Given the description of an element on the screen output the (x, y) to click on. 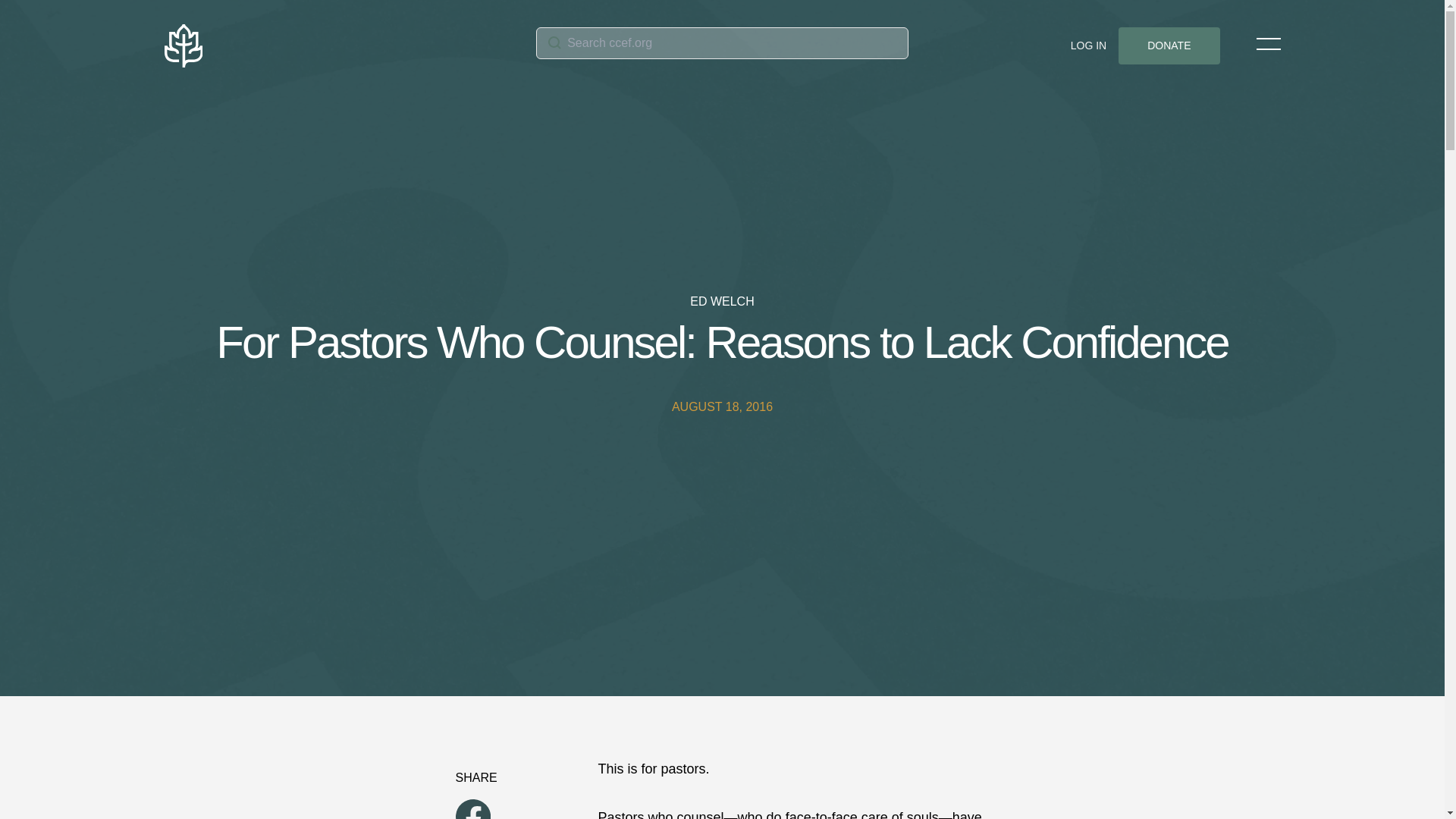
CCEF Home Link (349, 45)
DONATE (1169, 45)
LOG IN (1088, 45)
